Given the description of an element on the screen output the (x, y) to click on. 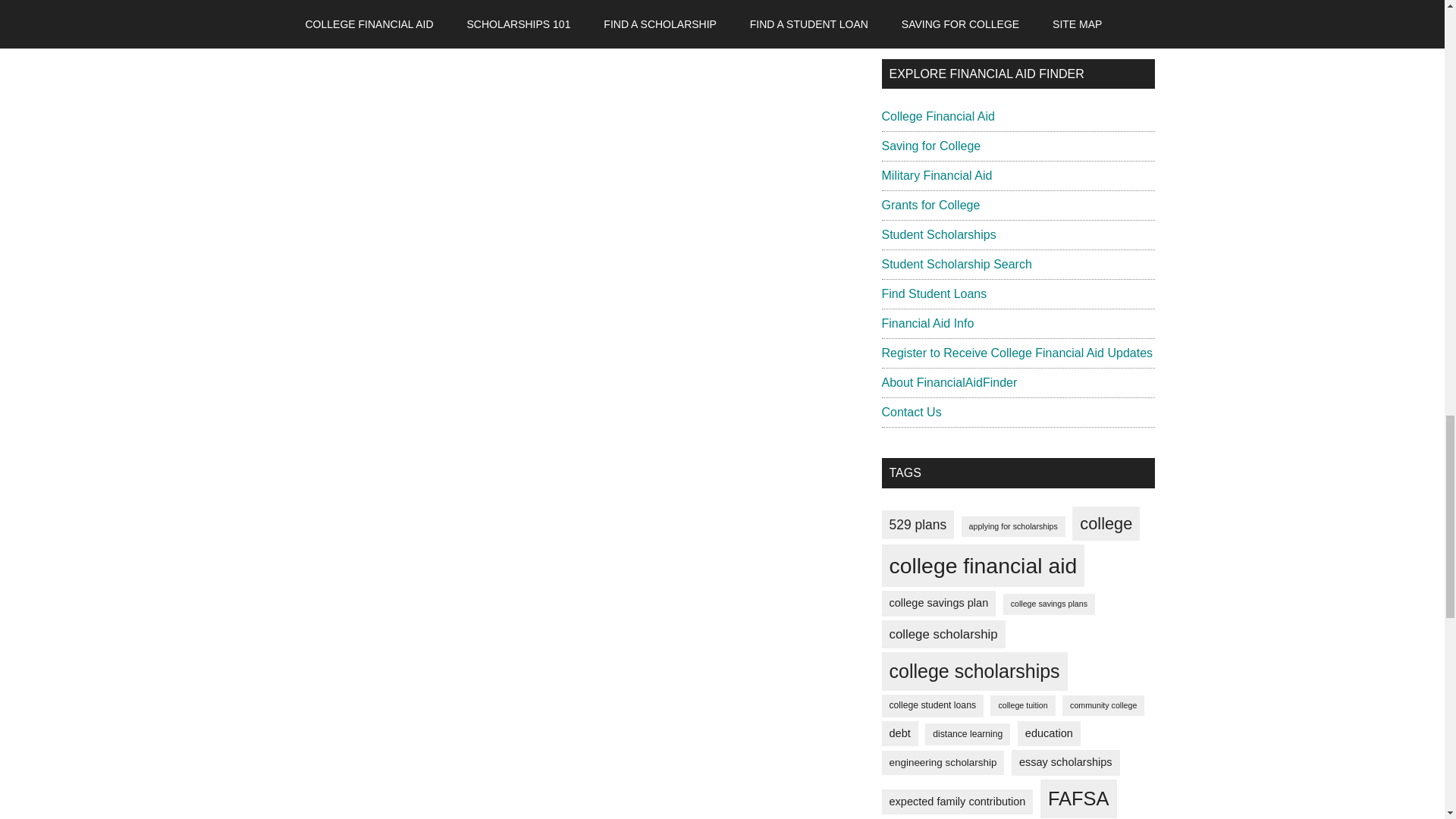
Military Financial Aid (935, 174)
Saving for College (929, 145)
Grants for College (929, 205)
College Financial Aid (937, 115)
About FinancialAidFinder (948, 382)
Financial Aid Info (927, 323)
Find Student Loans (933, 293)
Student Scholarships (937, 234)
Register to Receive College Financial Aid Updates (1016, 352)
Contact Us (910, 411)
